Given the description of an element on the screen output the (x, y) to click on. 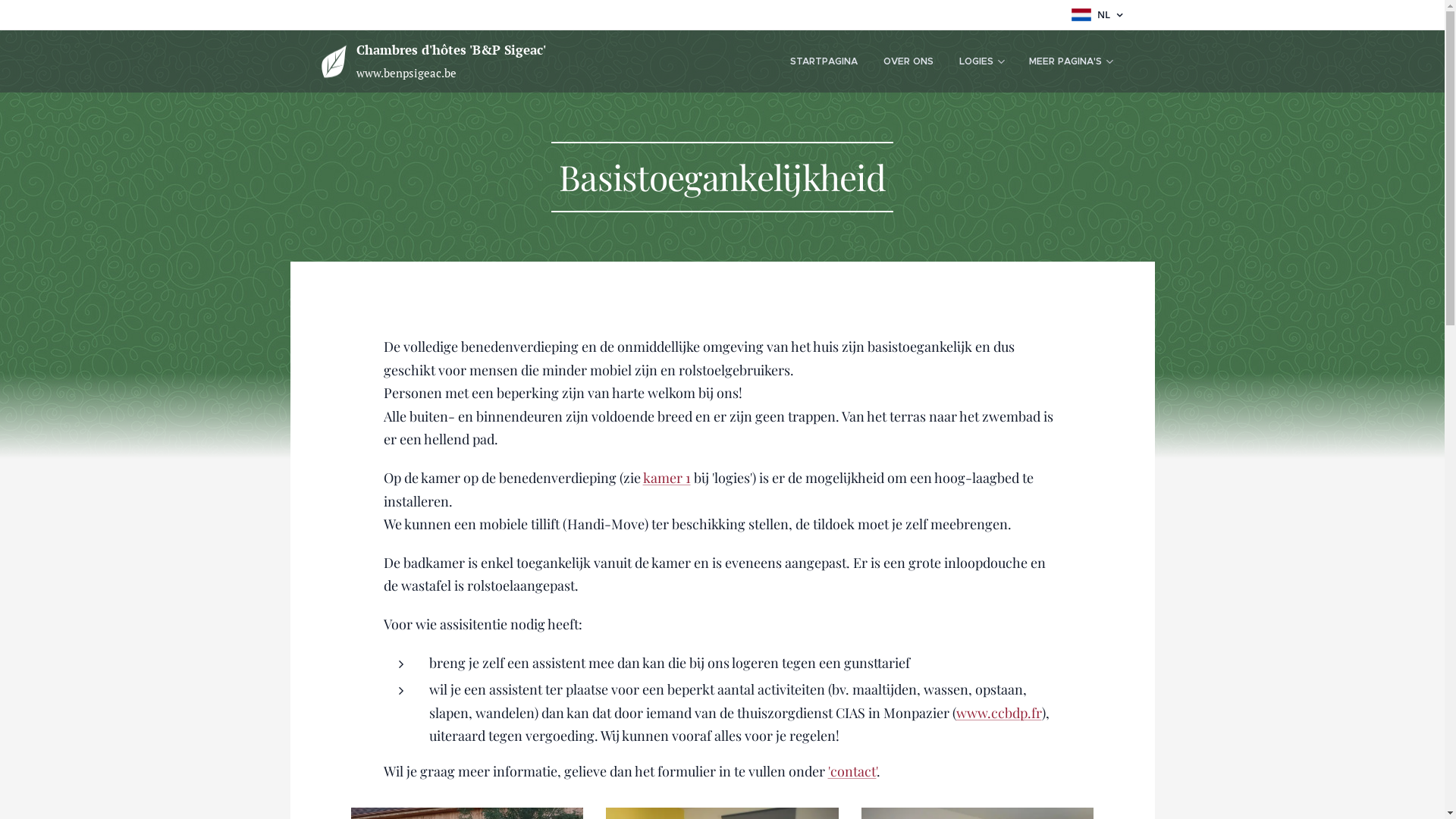
'contact' Element type: text (851, 771)
kamer 1 Element type: text (666, 477)
LOGIES Element type: text (981, 61)
OVER ONS Element type: text (908, 61)
MEER PAGINA'S Element type: text (1070, 61)
www.ccbdp.fr Element type: text (998, 712)
STARTPAGINA Element type: text (822, 61)
